Given the description of an element on the screen output the (x, y) to click on. 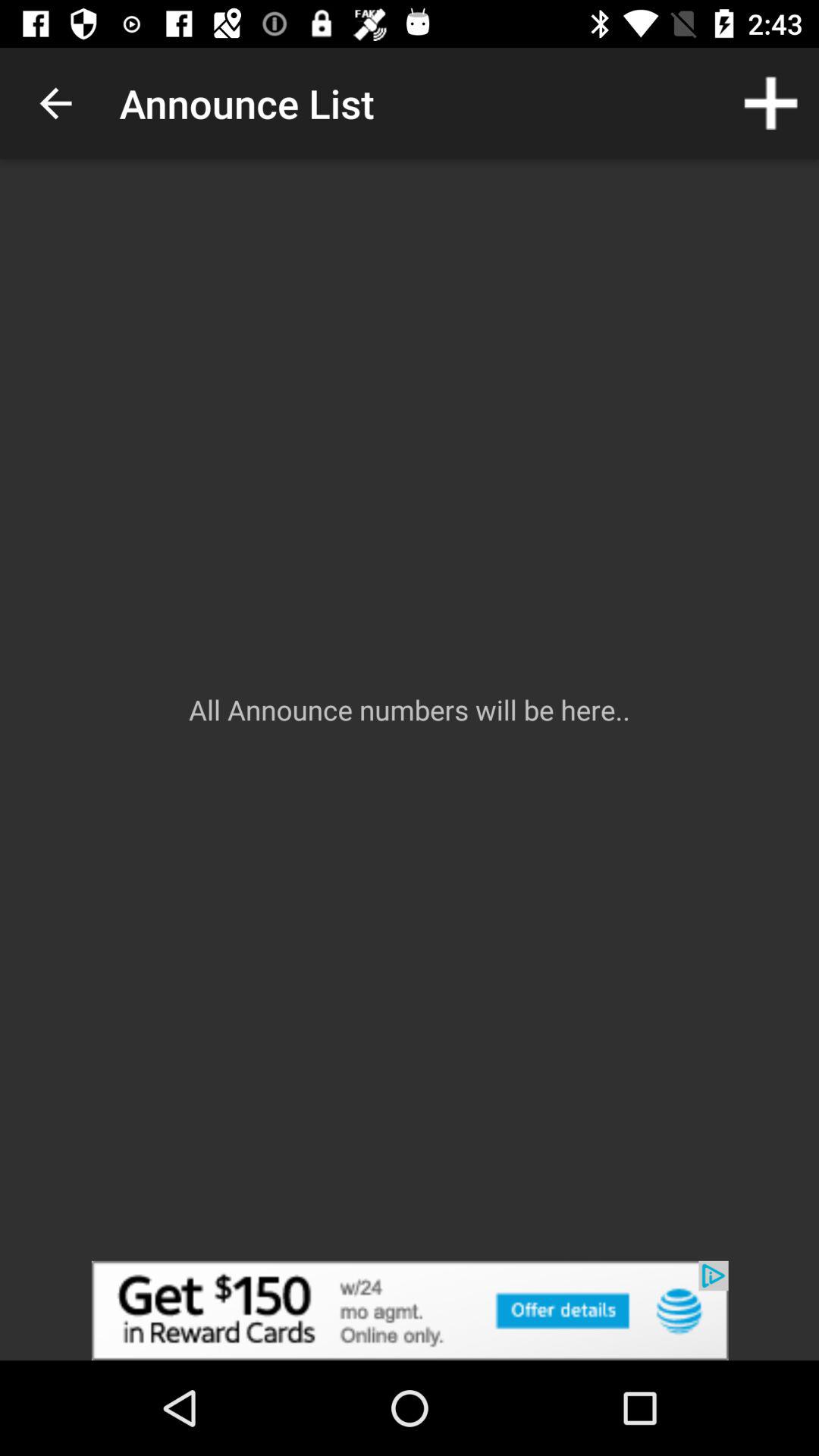
select advertisement (409, 1310)
